Given the description of an element on the screen output the (x, y) to click on. 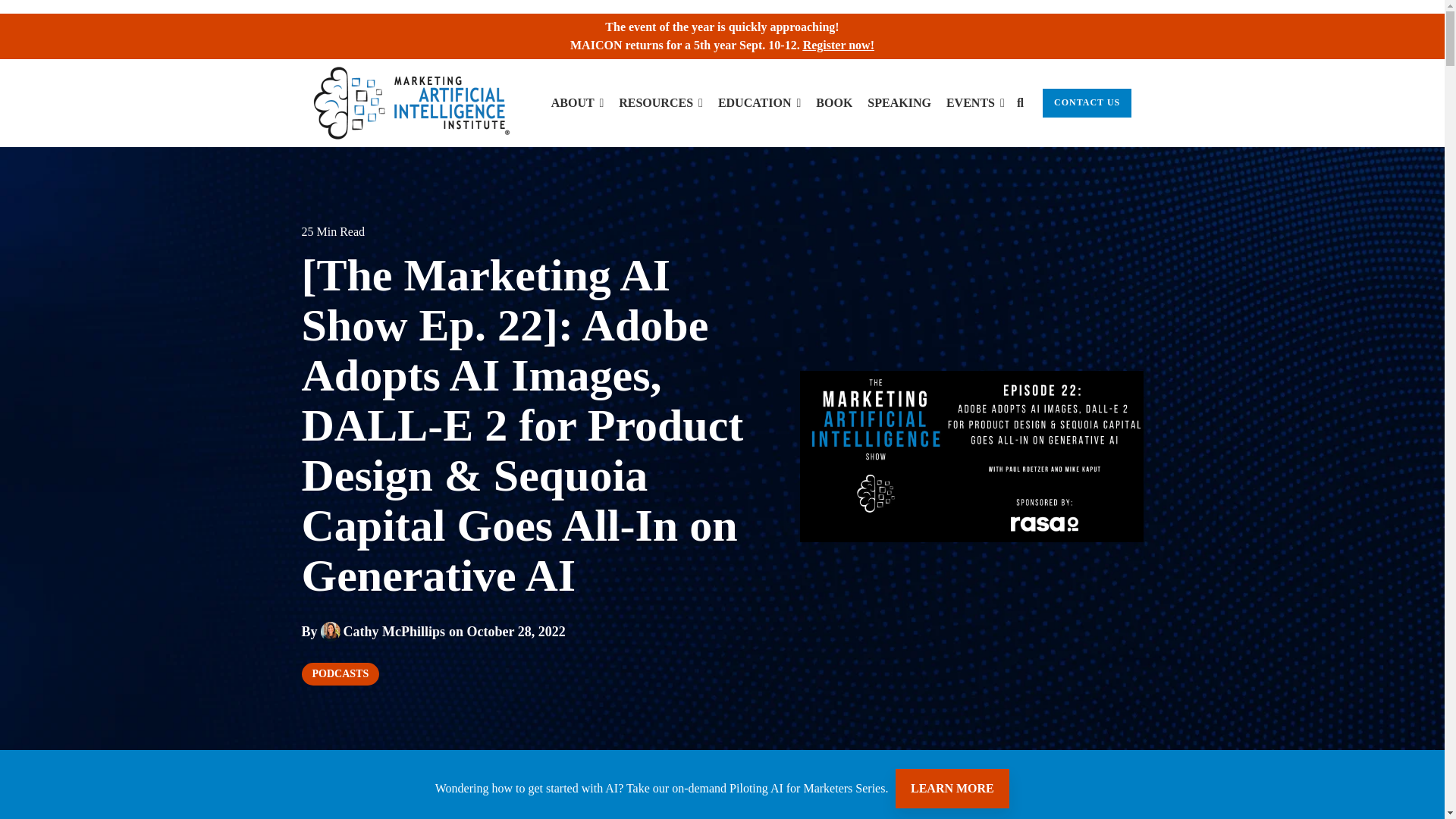
Marketing Artificial Intelligence Institute (411, 102)
EDUCATION (758, 103)
Register now! (839, 44)
ABOUT (577, 103)
BOOK (833, 103)
Contact Us (1086, 102)
RESOURCES (660, 103)
Learn More (952, 788)
EVENTS (975, 103)
SPEAKING (899, 103)
